Given the description of an element on the screen output the (x, y) to click on. 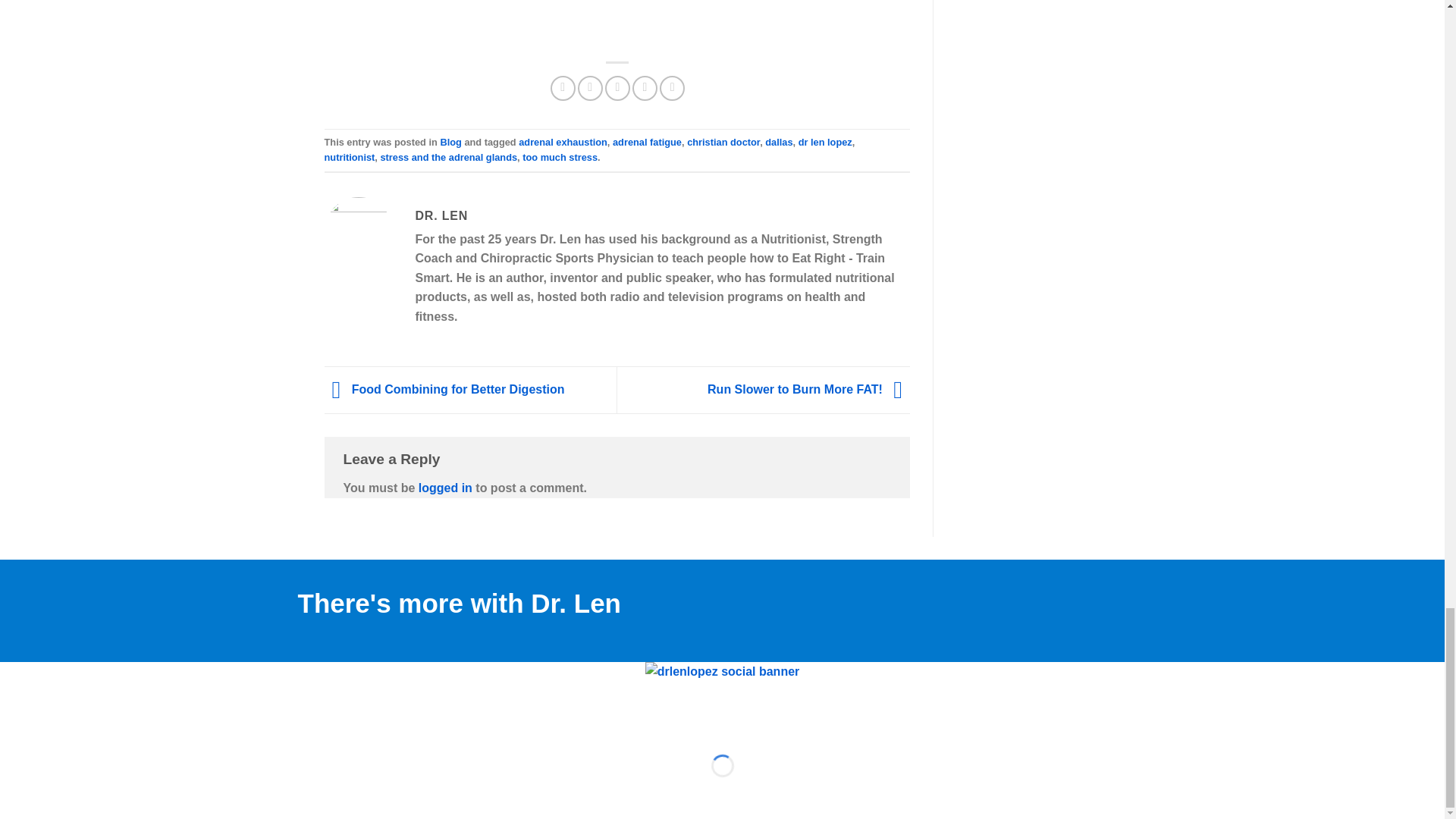
Share on Facebook (562, 88)
Share on LinkedIn (671, 88)
Pin on Pinterest (644, 88)
Share on Twitter (590, 88)
Email to a Friend (617, 88)
